Given the description of an element on the screen output the (x, y) to click on. 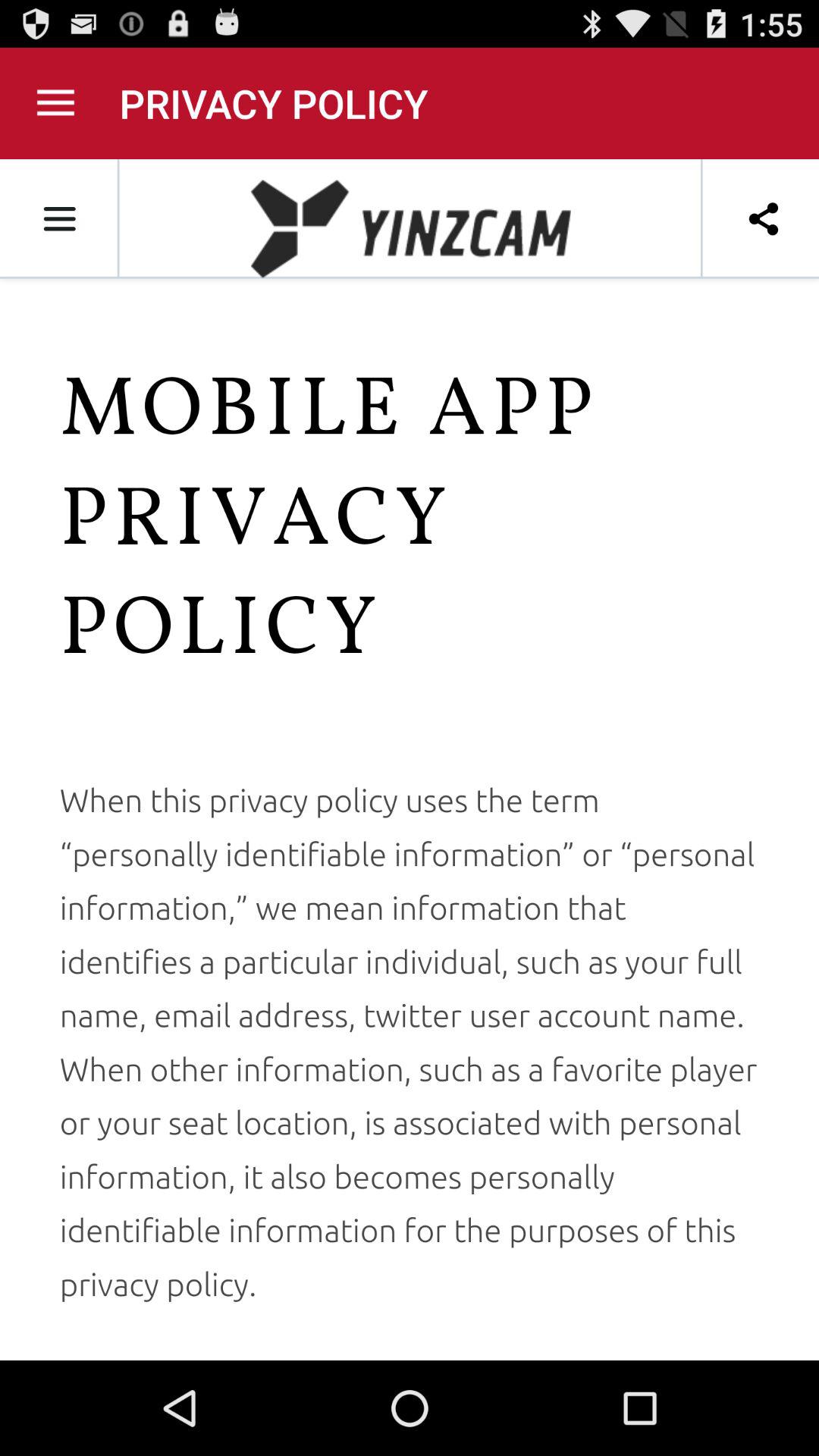
advertisement page (409, 759)
